Given the description of an element on the screen output the (x, y) to click on. 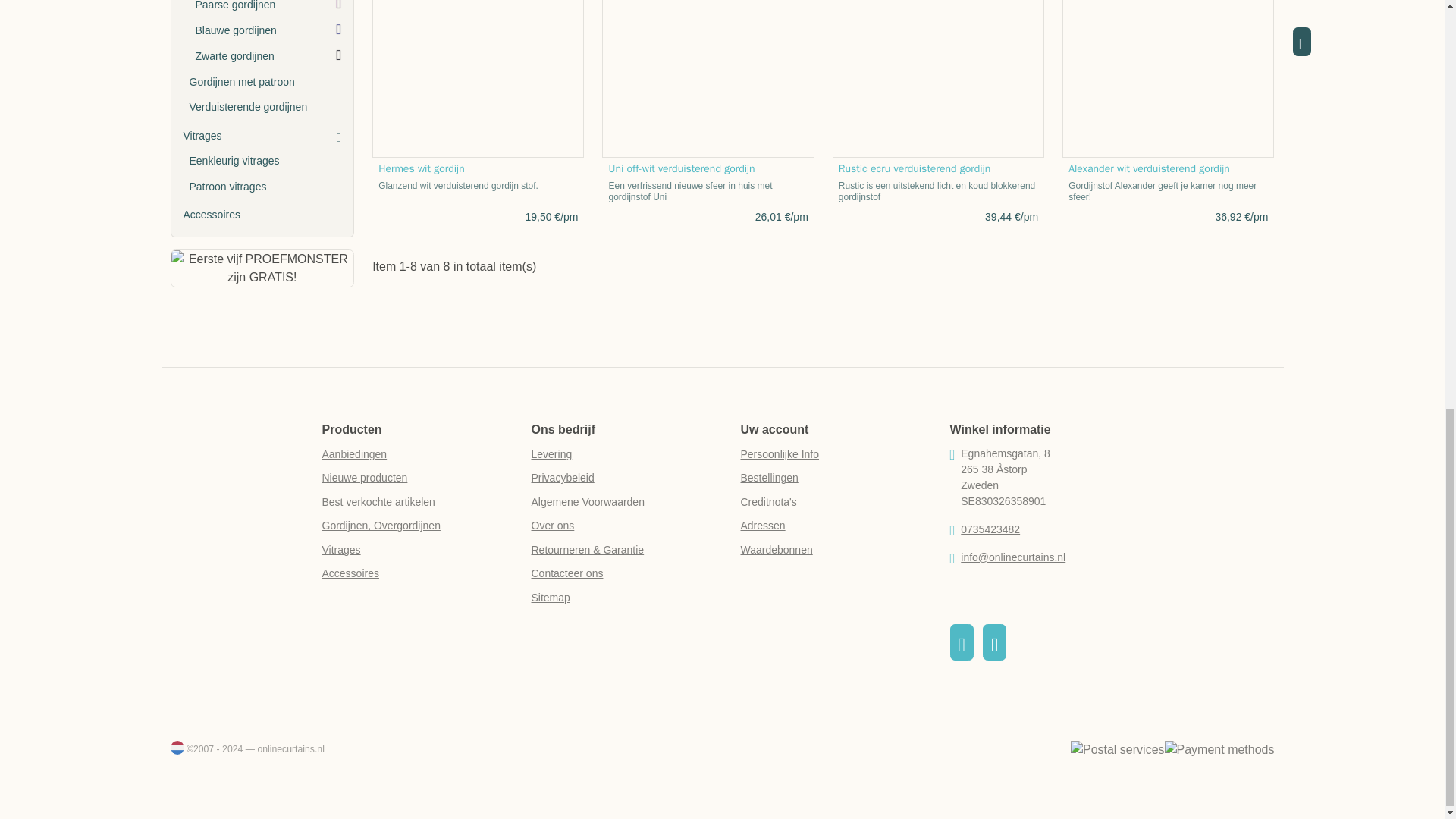
Our special products (354, 453)
Meer over ons weten (552, 525)
Bestellingen (768, 477)
Onze nieuwe producten (364, 477)
Neem contact met ons op via ons formulier (566, 573)
Onze leveringsvoorwaarden (551, 453)
Effen en patroon overgordijnen (380, 525)
Onze best verkochte artikelen (377, 501)
Gordijn garantie (587, 549)
